Given the description of an element on the screen output the (x, y) to click on. 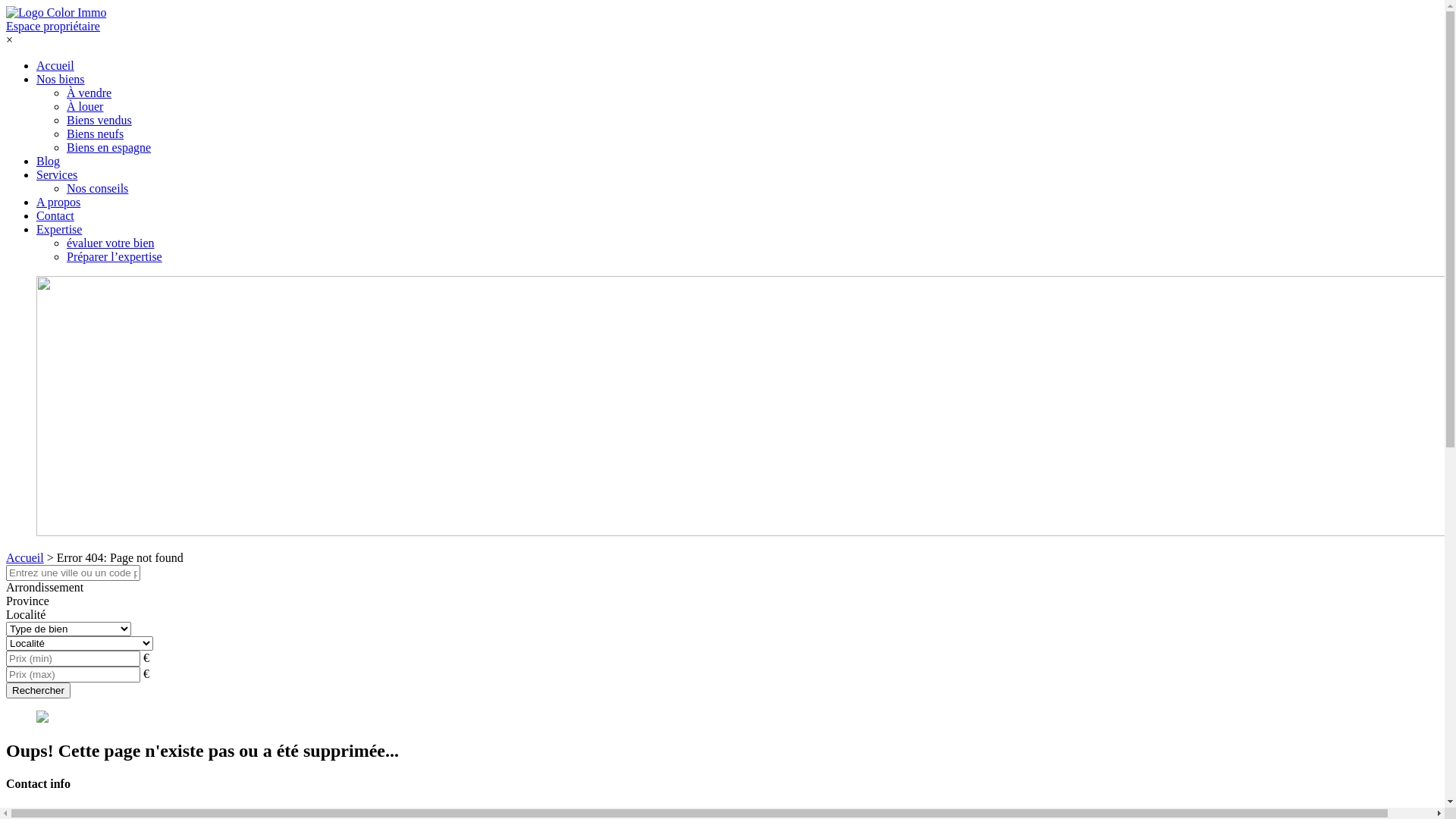
Biens neufs Element type: text (94, 133)
Biens vendus Element type: text (98, 119)
Accueil Element type: text (24, 557)
Rechercher Element type: text (38, 690)
Accueil Element type: text (55, 65)
Expertise Element type: text (58, 228)
Blog Element type: text (47, 160)
Nos conseils Element type: text (97, 188)
Contact Element type: text (55, 215)
Nos biens Element type: text (60, 78)
Biens en espagne Element type: text (108, 147)
Services Element type: text (56, 174)
A propos Element type: text (58, 201)
